Given the description of an element on the screen output the (x, y) to click on. 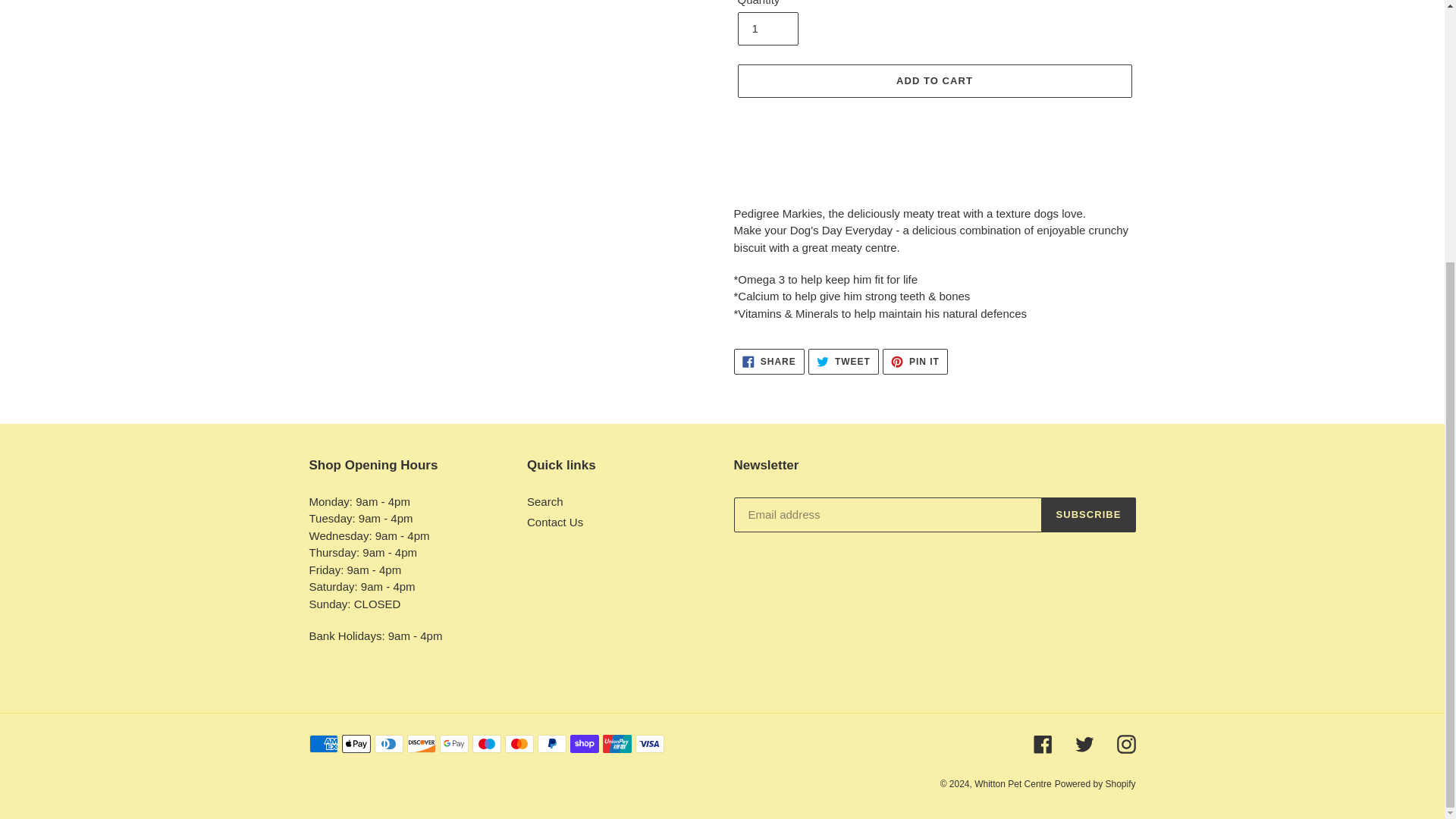
1 (766, 28)
